Given the description of an element on the screen output the (x, y) to click on. 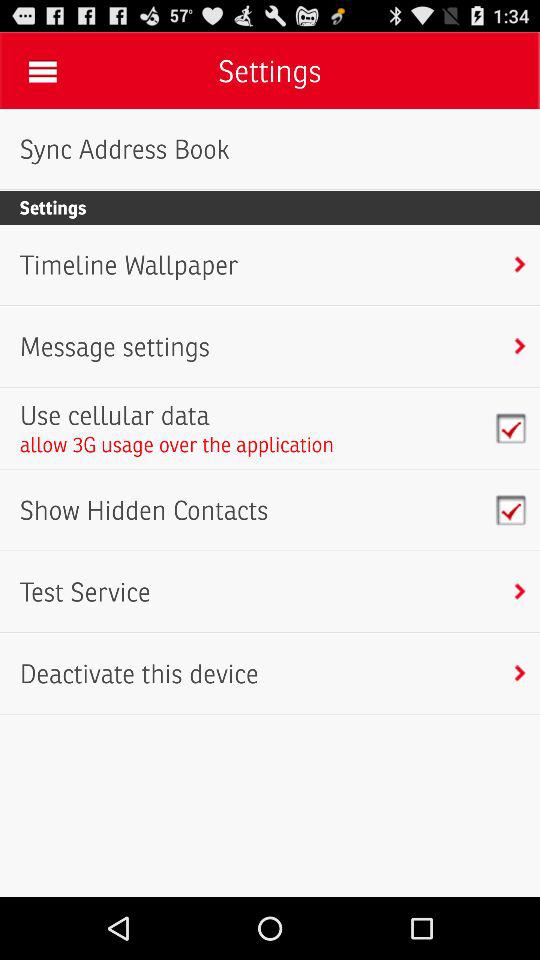
select timeline wallpaper app (128, 265)
